Given the description of an element on the screen output the (x, y) to click on. 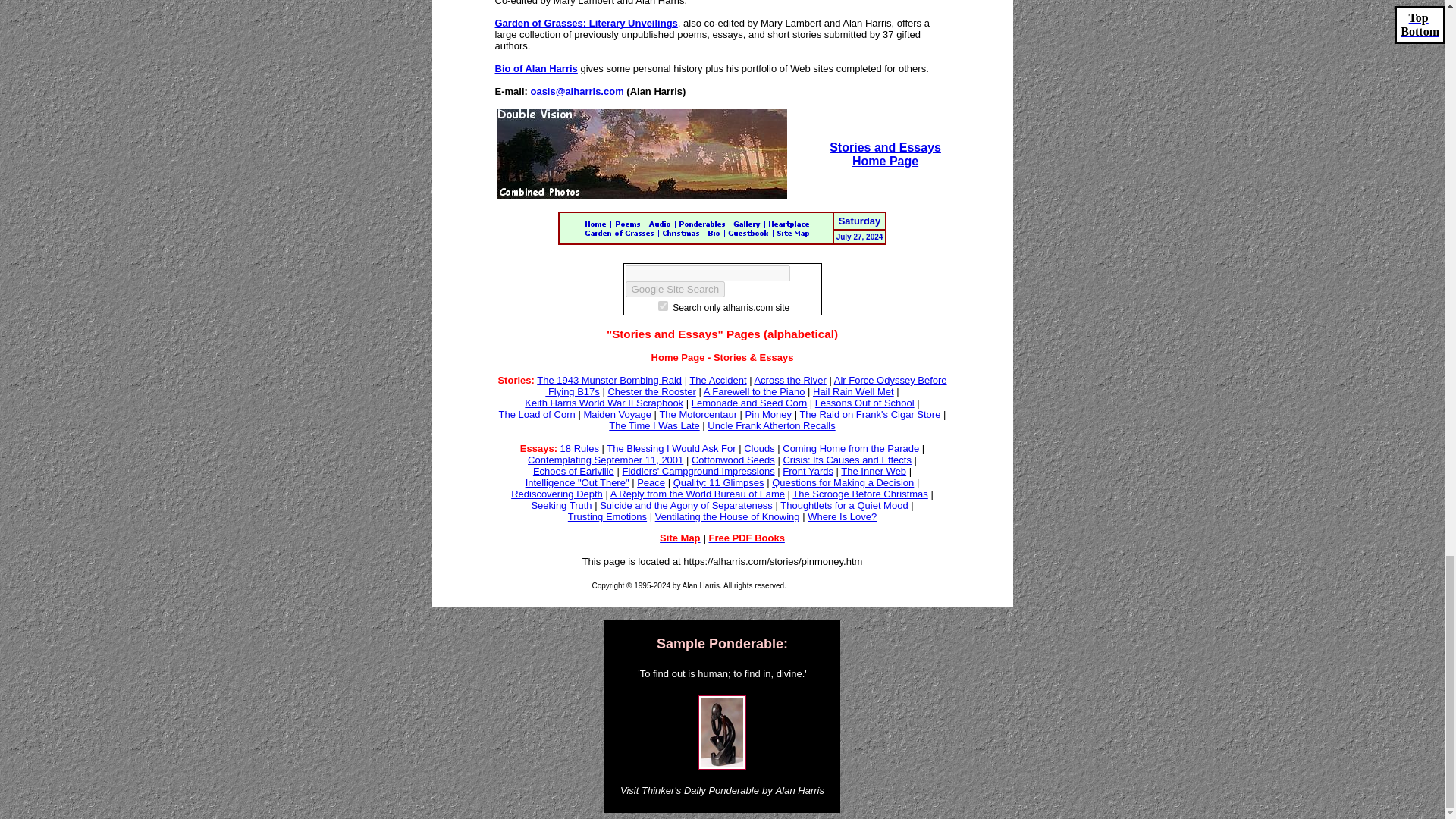
Air Force Odyssey Before  Flying B17s (745, 385)
Chester the Rooster (651, 391)
Keith Harris World War II Scrapbook (603, 402)
alharris.com (663, 306)
Maiden Voyage (616, 414)
Google Site Search (674, 289)
Hail Rain Well Met (884, 153)
Lessons Out of School (852, 391)
A Farewell to the Piano (864, 402)
The Accident (754, 391)
Lemonade and Seed Corn (716, 379)
Google Site Search (749, 402)
Across the River (674, 289)
Garden of Grasses: Literary Unveilings (789, 379)
